Given the description of an element on the screen output the (x, y) to click on. 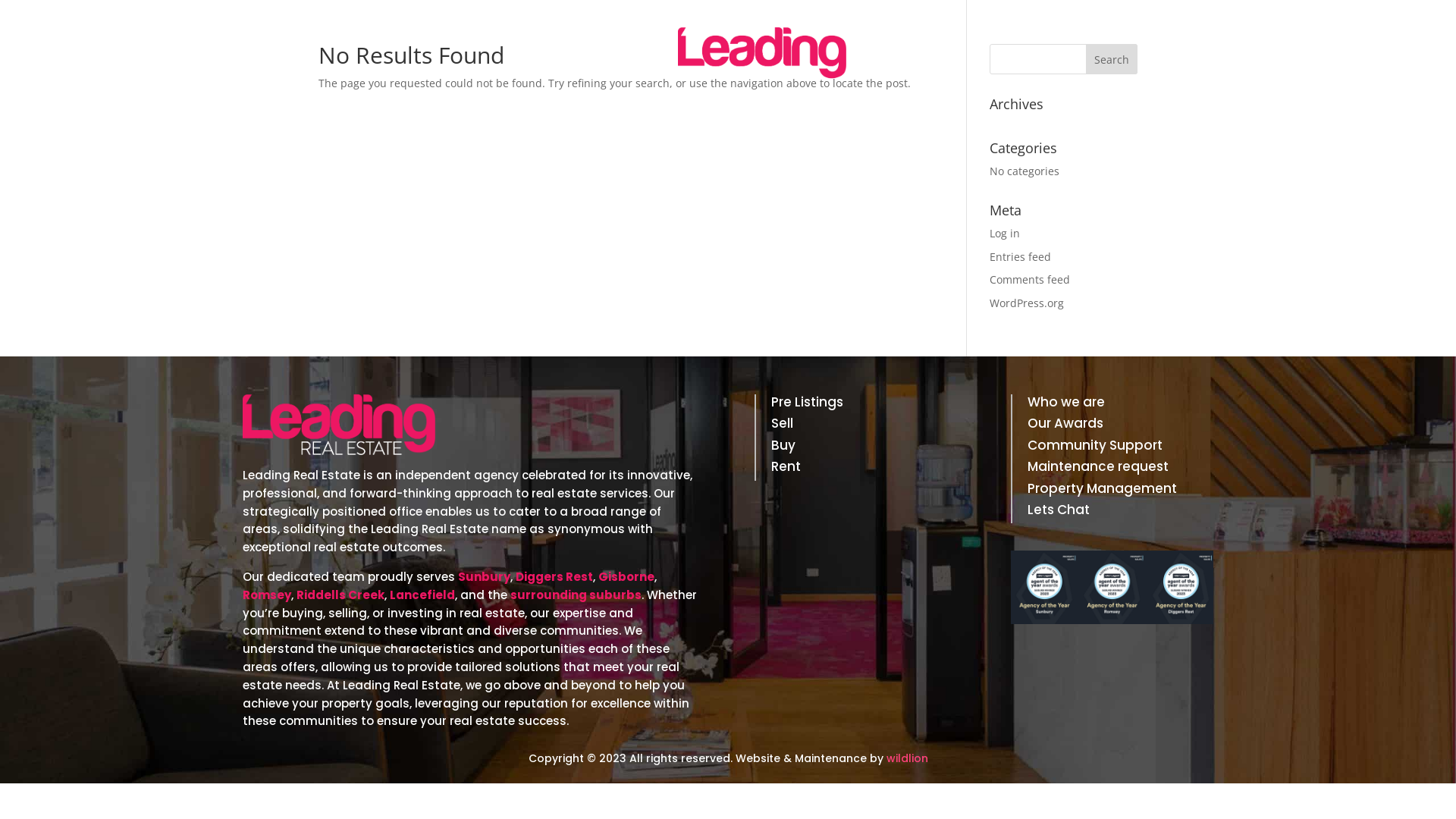
wildlion Element type: text (906, 757)
Log in Element type: text (1004, 232)
Property Management Element type: text (1111, 491)
Entries feed Element type: text (1020, 256)
Our Awards Element type: text (1111, 425)
Who we are Element type: text (1111, 404)
Comments feed Element type: text (1029, 279)
Rent Element type: text (855, 469)
Maintenance request Element type: text (1111, 469)
Search Element type: text (1111, 58)
Riddells Creek Element type: text (340, 594)
AOY2023 Element type: hover (1111, 587)
Lets Chat Element type: text (1111, 512)
Community Support Element type: text (1111, 447)
WordPress.org Element type: text (1026, 302)
Sunbury Element type: text (484, 576)
Sell Element type: text (855, 425)
Lancefield Element type: text (422, 594)
logo.white_ Element type: hover (338, 424)
logo.white_ Element type: hover (761, 53)
Pre Listings Element type: text (855, 404)
Romsey Element type: text (266, 594)
Buy Element type: text (855, 447)
surrounding suburbs Element type: text (575, 594)
Diggers Rest Element type: text (554, 576)
Gisborne Element type: text (626, 576)
